Given the description of an element on the screen output the (x, y) to click on. 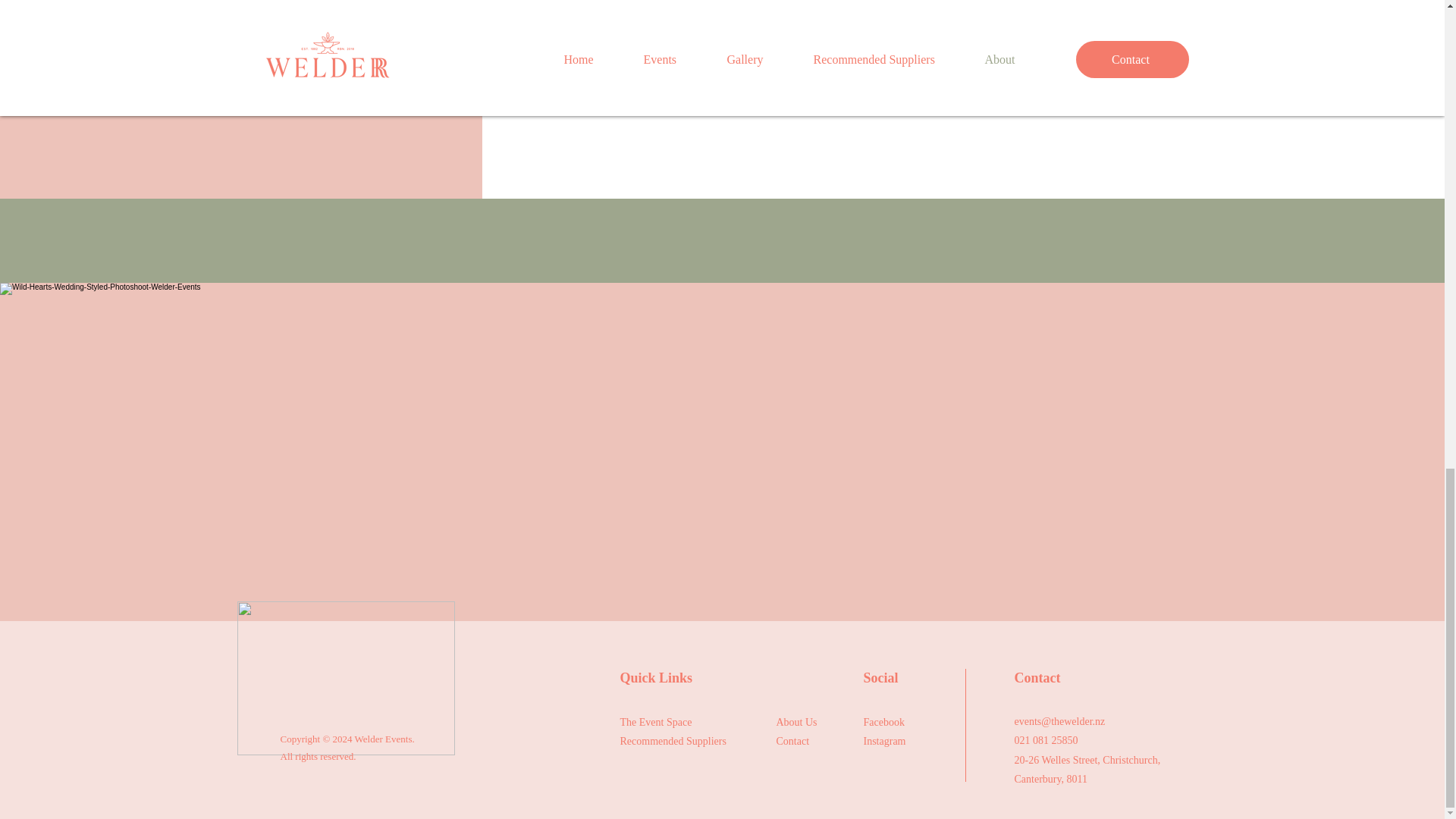
Contact (792, 740)
The Event Space (656, 722)
Recommended Suppliers (673, 740)
Instagram (884, 740)
Facebook (883, 722)
About Us (796, 721)
